Given the description of an element on the screen output the (x, y) to click on. 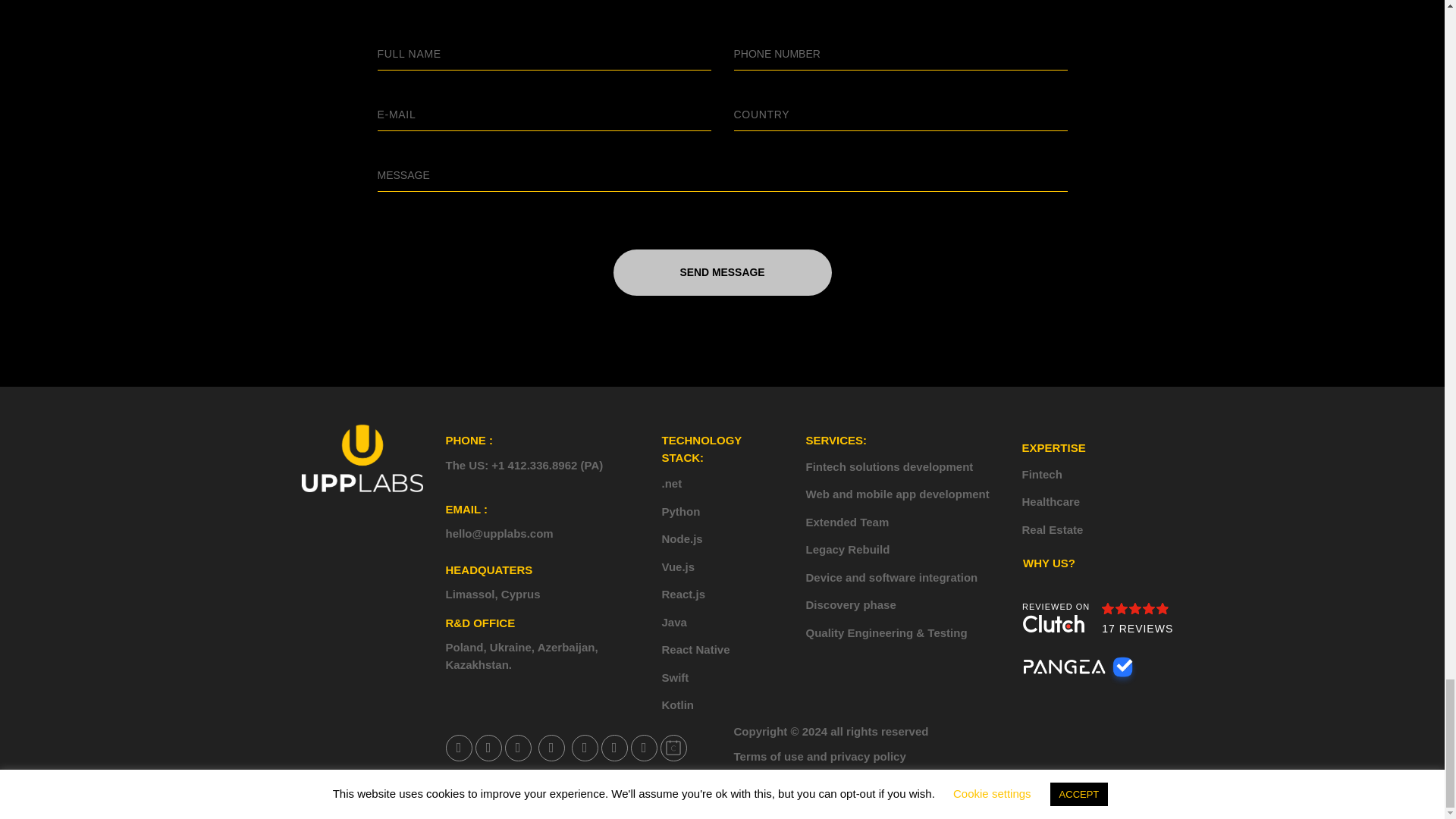
UppLabs LLC Clutch Review Widget 2 Dark (1100, 618)
Hire elite software development vendors at Pangea (1082, 670)
